Given the description of an element on the screen output the (x, y) to click on. 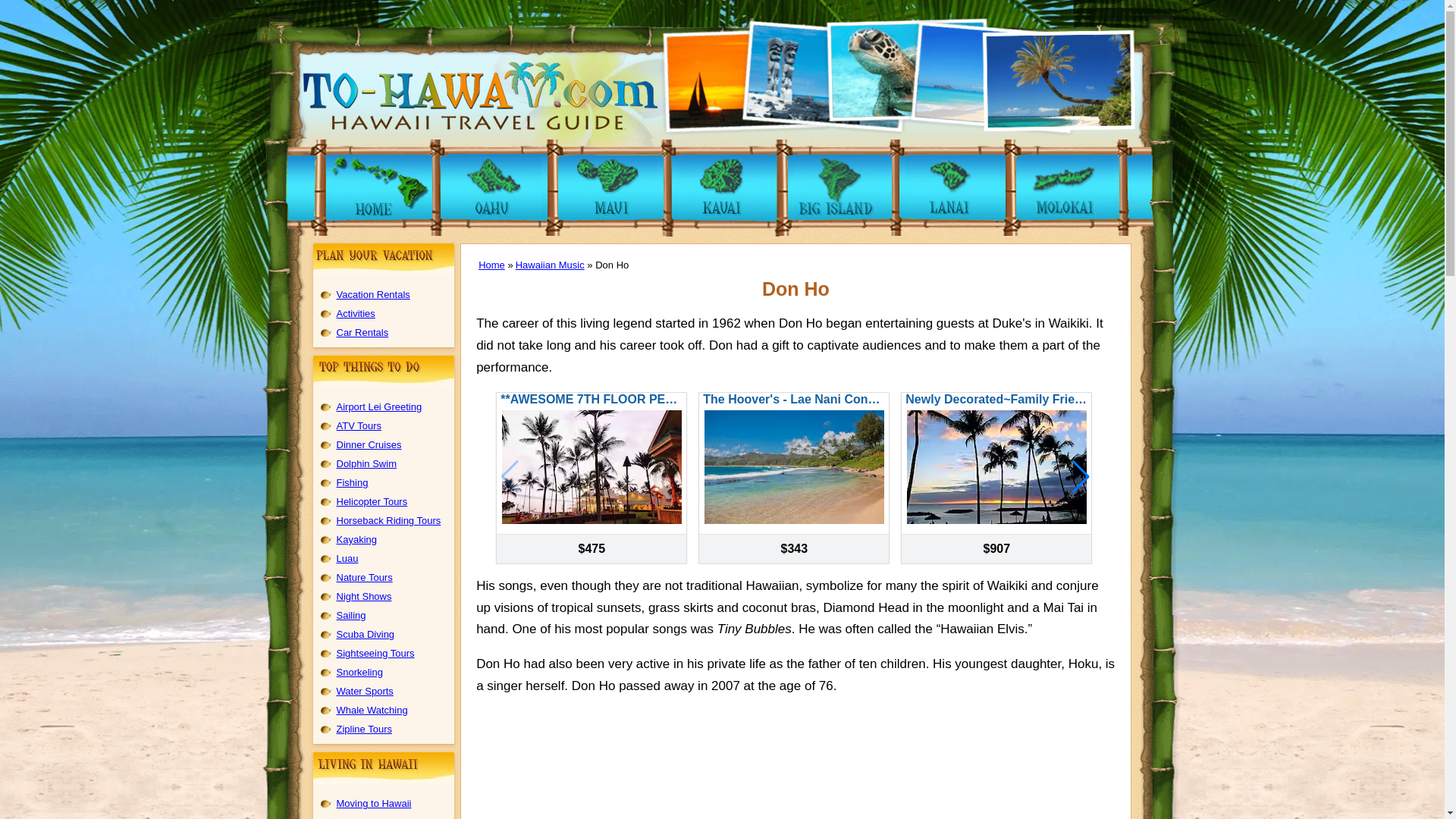
ATV Tours (358, 425)
Nature Tours (364, 577)
Sailing (351, 614)
Fishing (352, 482)
Sightseeing Tours (375, 653)
Snorkeling (359, 672)
Water Sports (364, 690)
Scuba Diving (365, 633)
Activities (355, 313)
Dinner Cruises (368, 444)
Luau (347, 558)
Vacation Rentals (373, 294)
Whale Watching (371, 709)
Airport Lei Greeting (379, 406)
Dolphin Swim (366, 463)
